Given the description of an element on the screen output the (x, y) to click on. 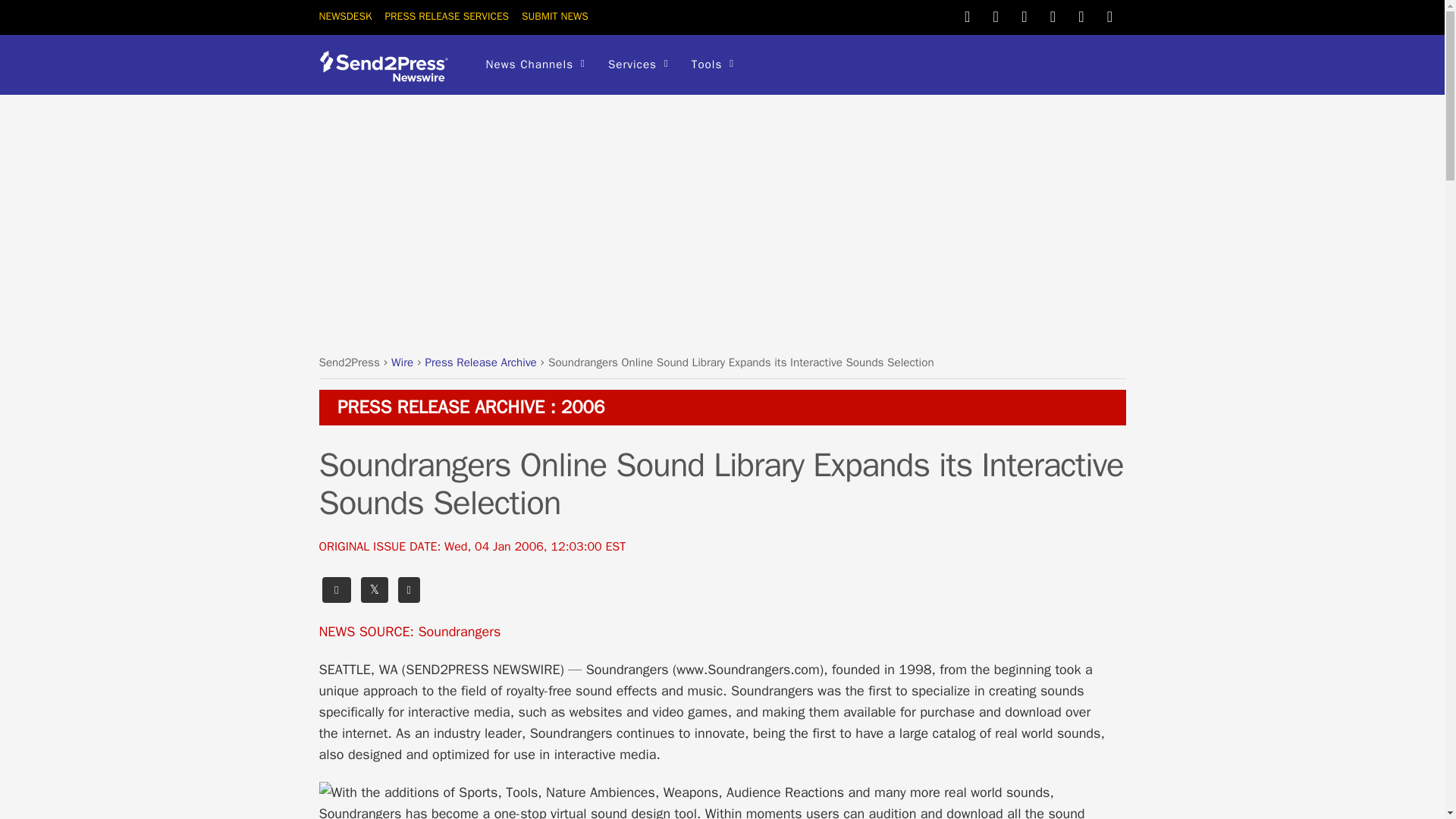
Press Release Services (446, 15)
Instagram (1081, 15)
Send2Press Newswire - Press Release Services (388, 75)
NEWSDESK (344, 15)
Twitter (967, 15)
Submit Press Release (554, 15)
Pinterest (1024, 15)
PRESS RELEASE SERVICES (446, 15)
Facebook (995, 15)
News Channels (535, 65)
Send2Press Newswire (388, 66)
LinkedIn (1052, 15)
RSS (1110, 15)
PR News Channels (535, 65)
Newswire Main Page (344, 15)
